Given the description of an element on the screen output the (x, y) to click on. 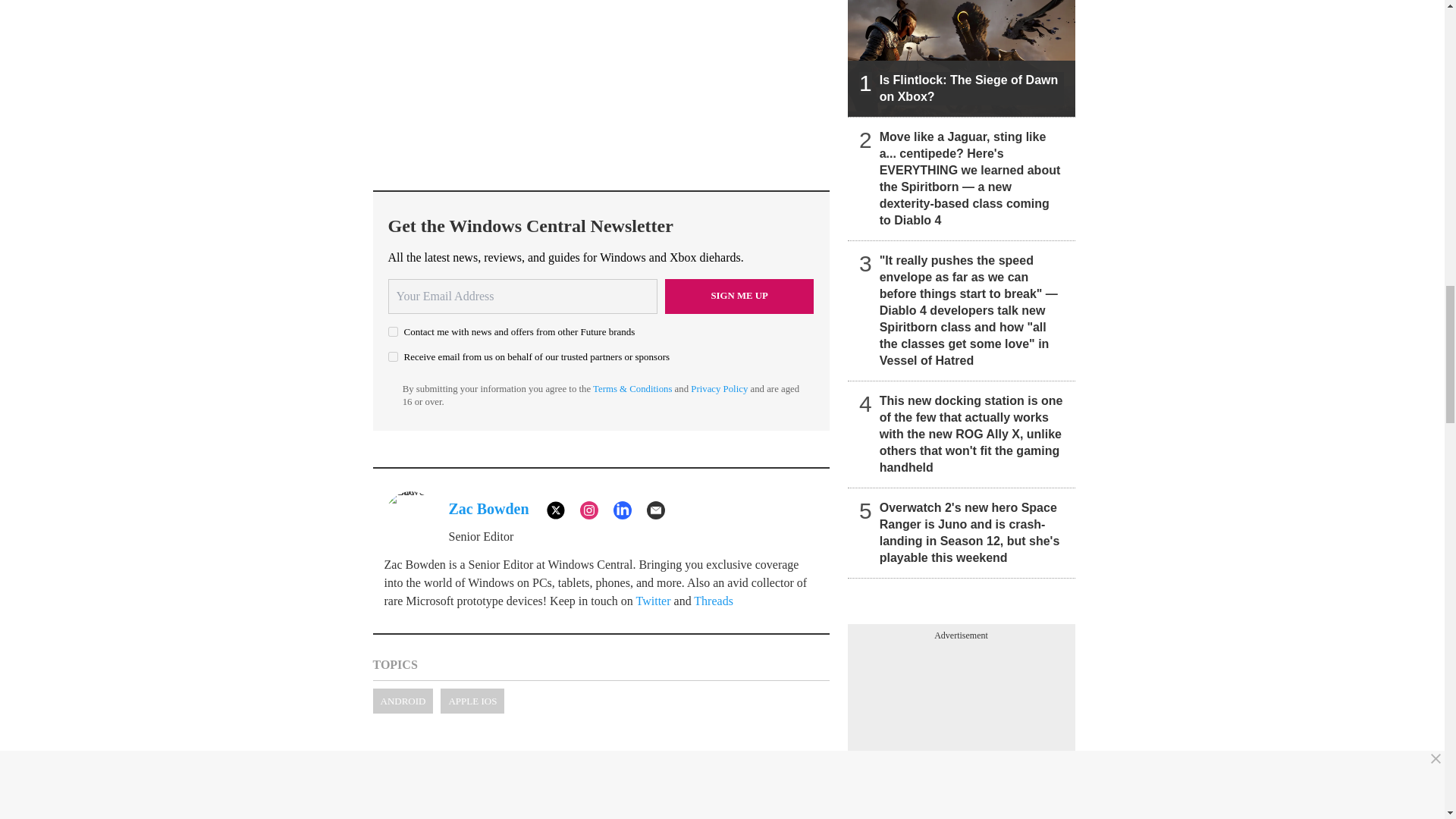
on (392, 331)
on (392, 356)
Sign me up (739, 296)
